Given the description of an element on the screen output the (x, y) to click on. 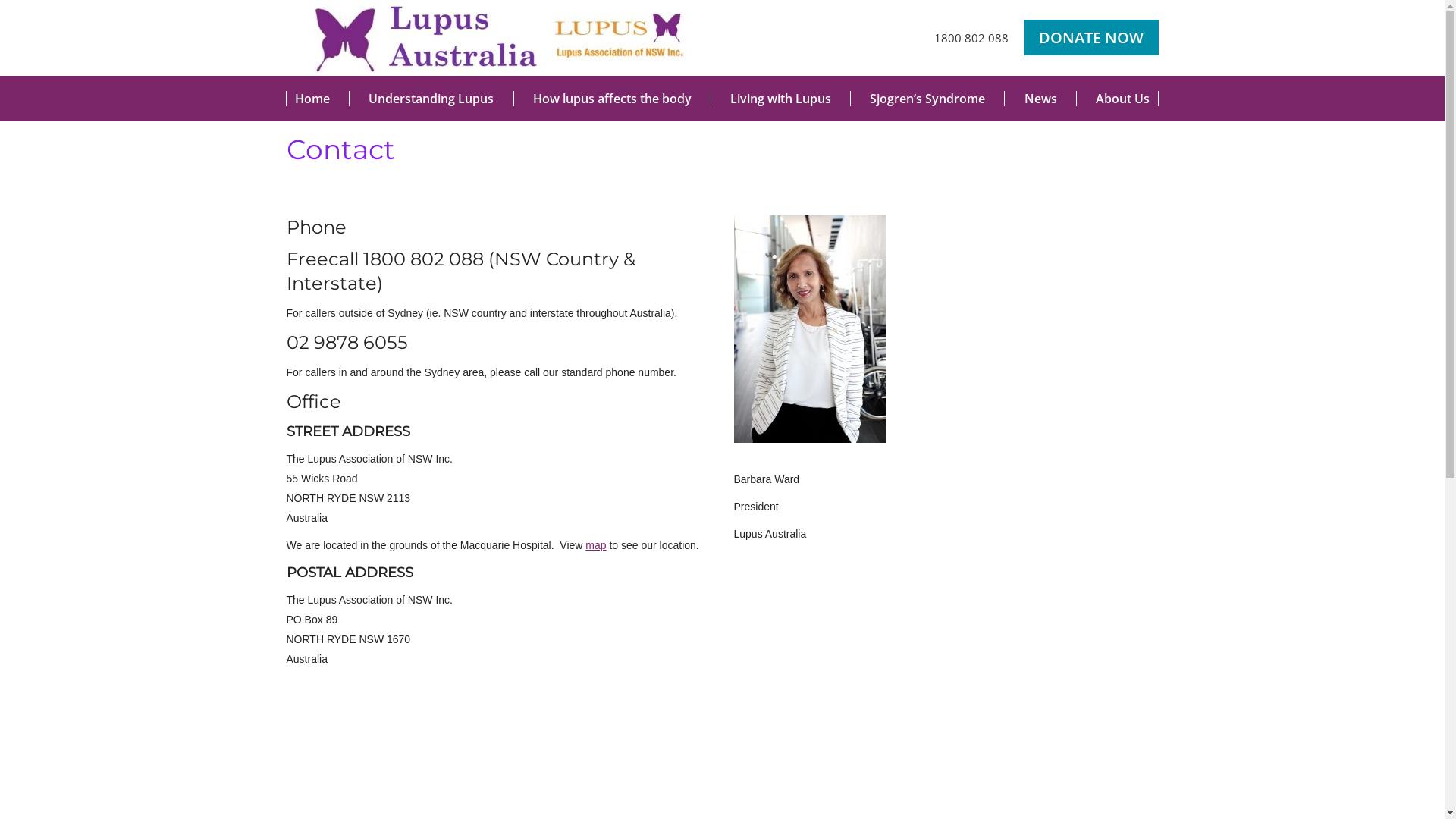
Understanding Lupus Element type: text (431, 98)
Living with Lupus Element type: text (780, 98)
About Us Element type: text (1121, 98)
map Element type: text (595, 545)
DONATE NOW Element type: text (1090, 37)
How lupus affects the body Element type: text (611, 98)
Home Element type: text (312, 98)
News Element type: text (1040, 98)
